Given the description of an element on the screen output the (x, y) to click on. 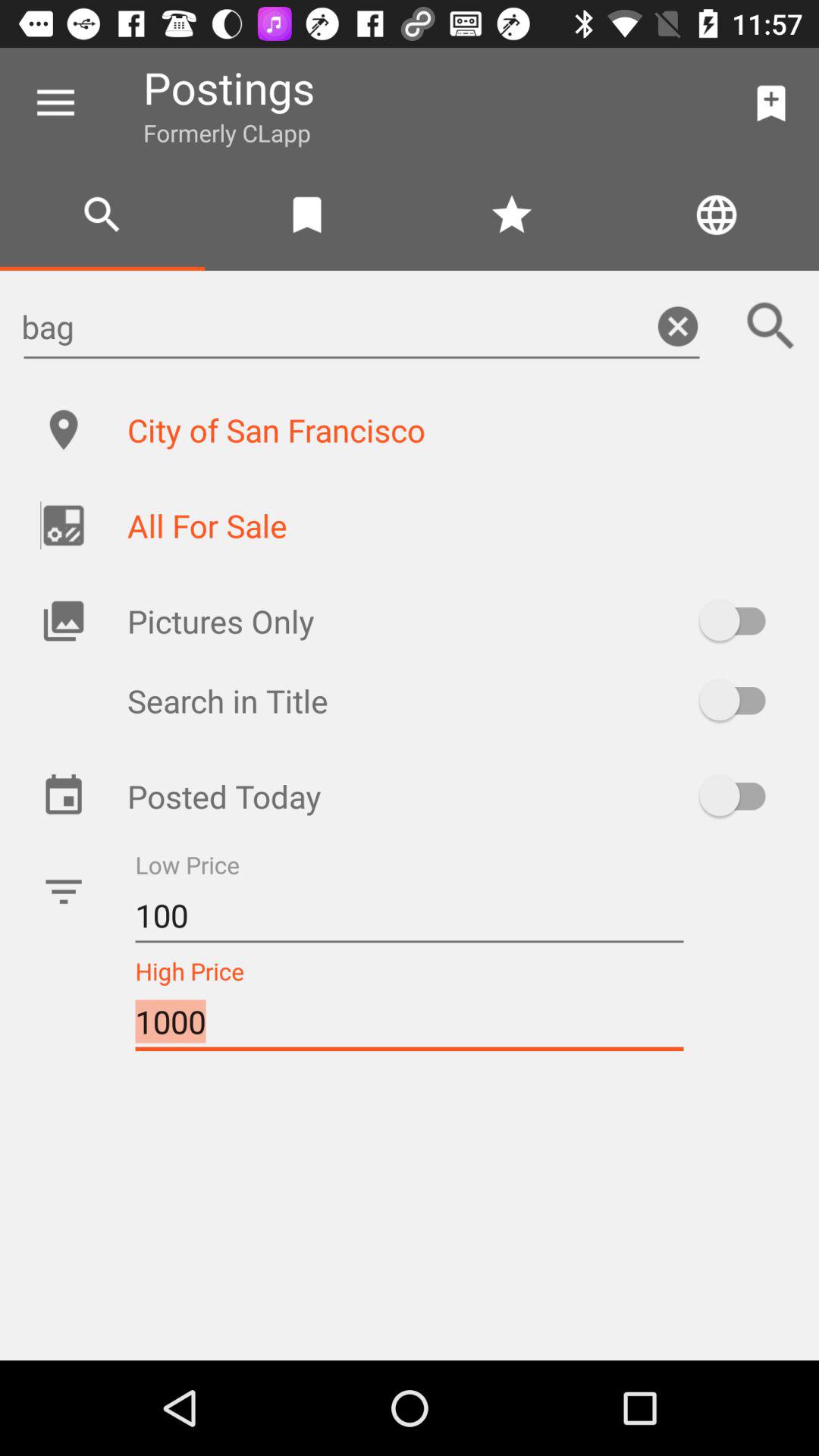
select the city of san item (457, 429)
